Given the description of an element on the screen output the (x, y) to click on. 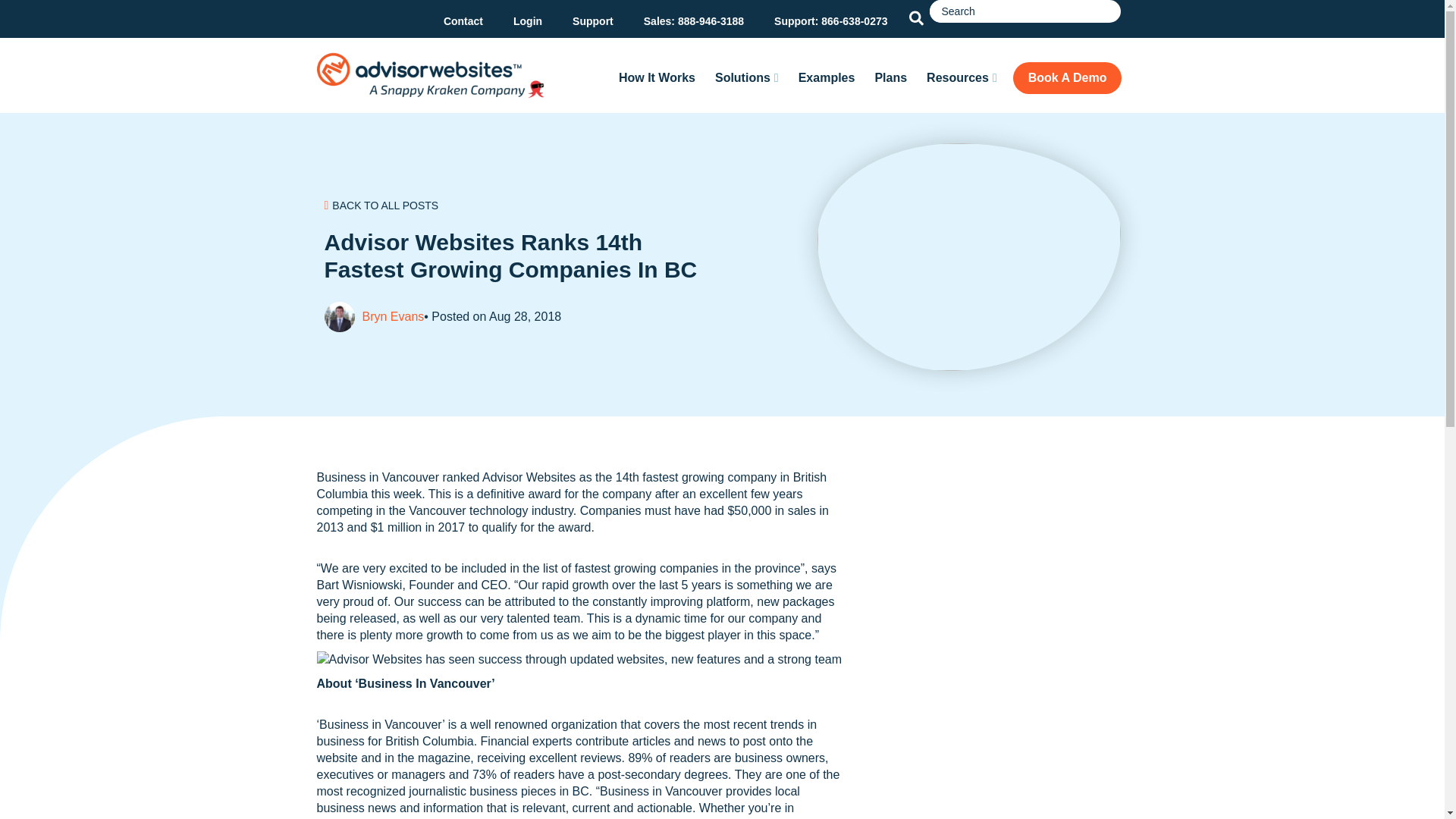
Login (527, 20)
Contact (462, 20)
Support: 866-638-0273 (830, 20)
Resources (962, 78)
BACK TO ALL POSTS (384, 205)
How It Works (656, 78)
Book A Demo (1067, 78)
Examples (826, 78)
Bryn Evans (393, 316)
Sales: 888-946-3188 (693, 20)
